Given the description of an element on the screen output the (x, y) to click on. 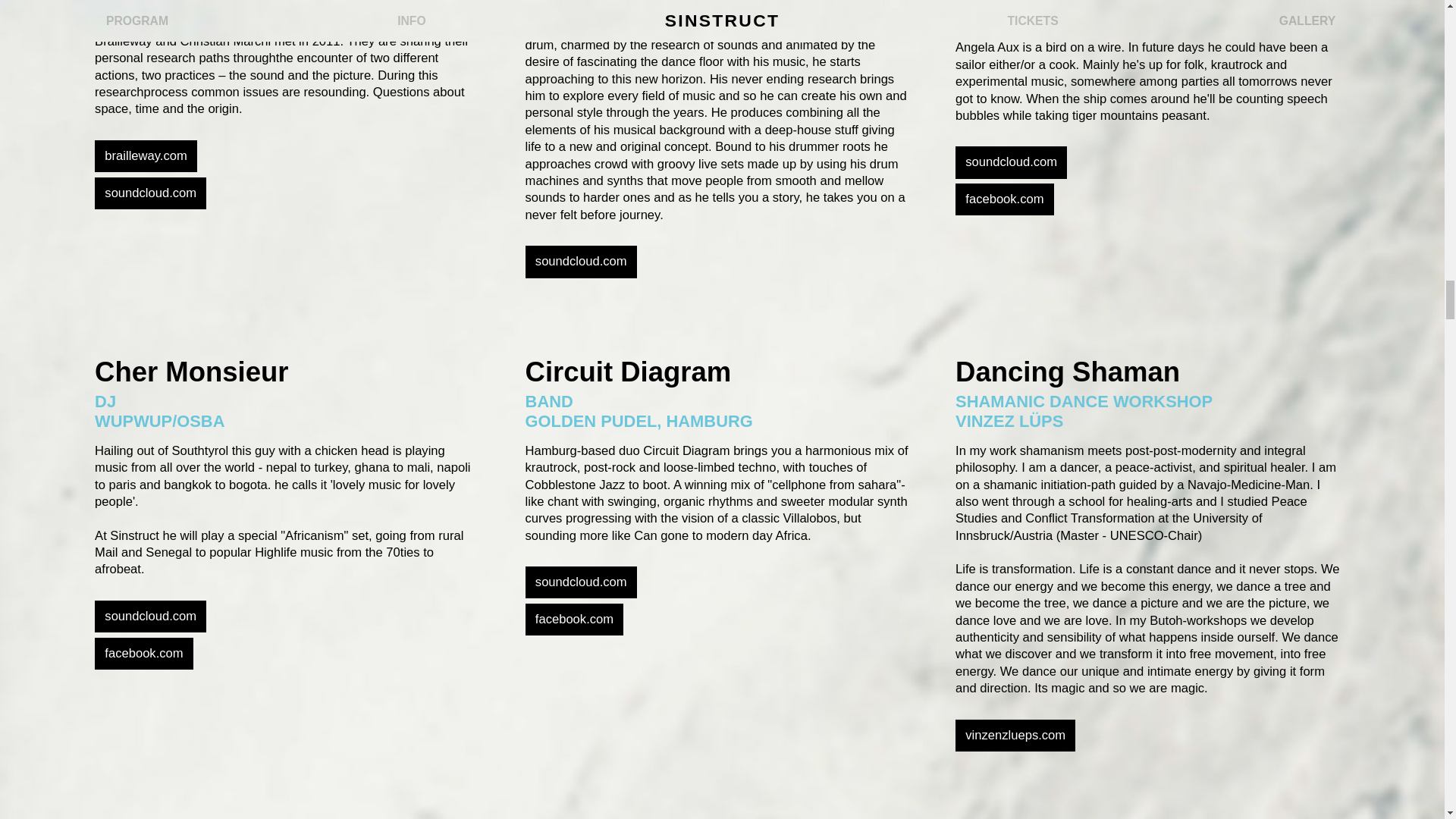
soundcloud.com (1011, 162)
soundcloud.com (581, 261)
facebook.com (574, 619)
facebook.com (1004, 199)
soundcloud.com (150, 193)
facebook.com (143, 653)
brailleway.com (145, 155)
vinzenzlueps.com (1015, 735)
soundcloud.com (150, 616)
soundcloud.com (581, 582)
